Given the description of an element on the screen output the (x, y) to click on. 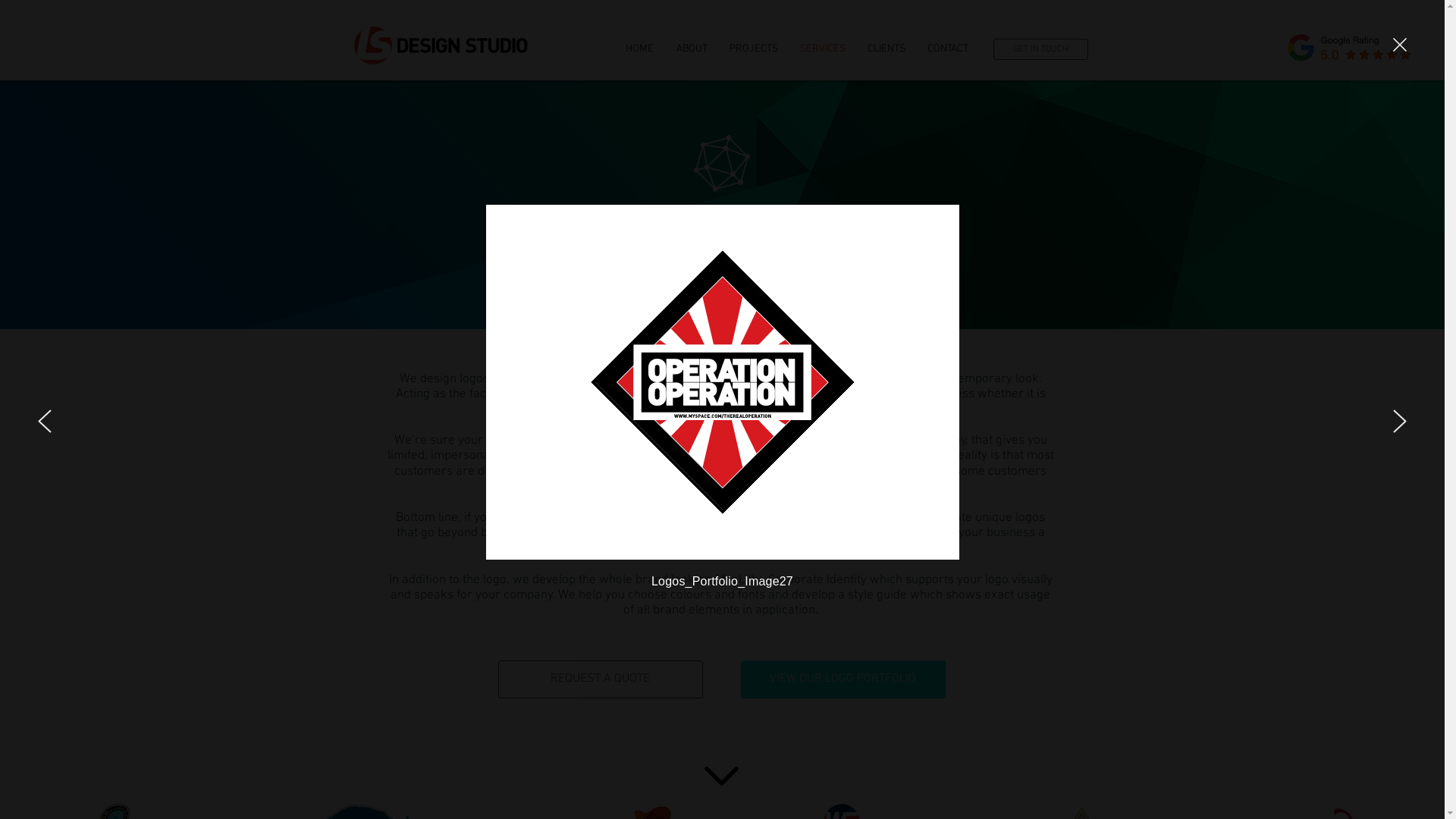
ABOUT Element type: text (691, 49)
CLIENTS Element type: text (886, 49)
SERVICES Element type: text (822, 49)
CONTACT Element type: text (947, 49)
PROJECTS Element type: text (753, 49)
HOME Element type: text (639, 49)
VIEW OUR LOGO PORTFOLIO Element type: text (842, 678)
LS Design Studio Google Reviews Element type: hover (1349, 47)
REQUEST A QUOTE Element type: text (599, 678)
GET IN TOUCH Element type: text (1040, 48)
